Given the description of an element on the screen output the (x, y) to click on. 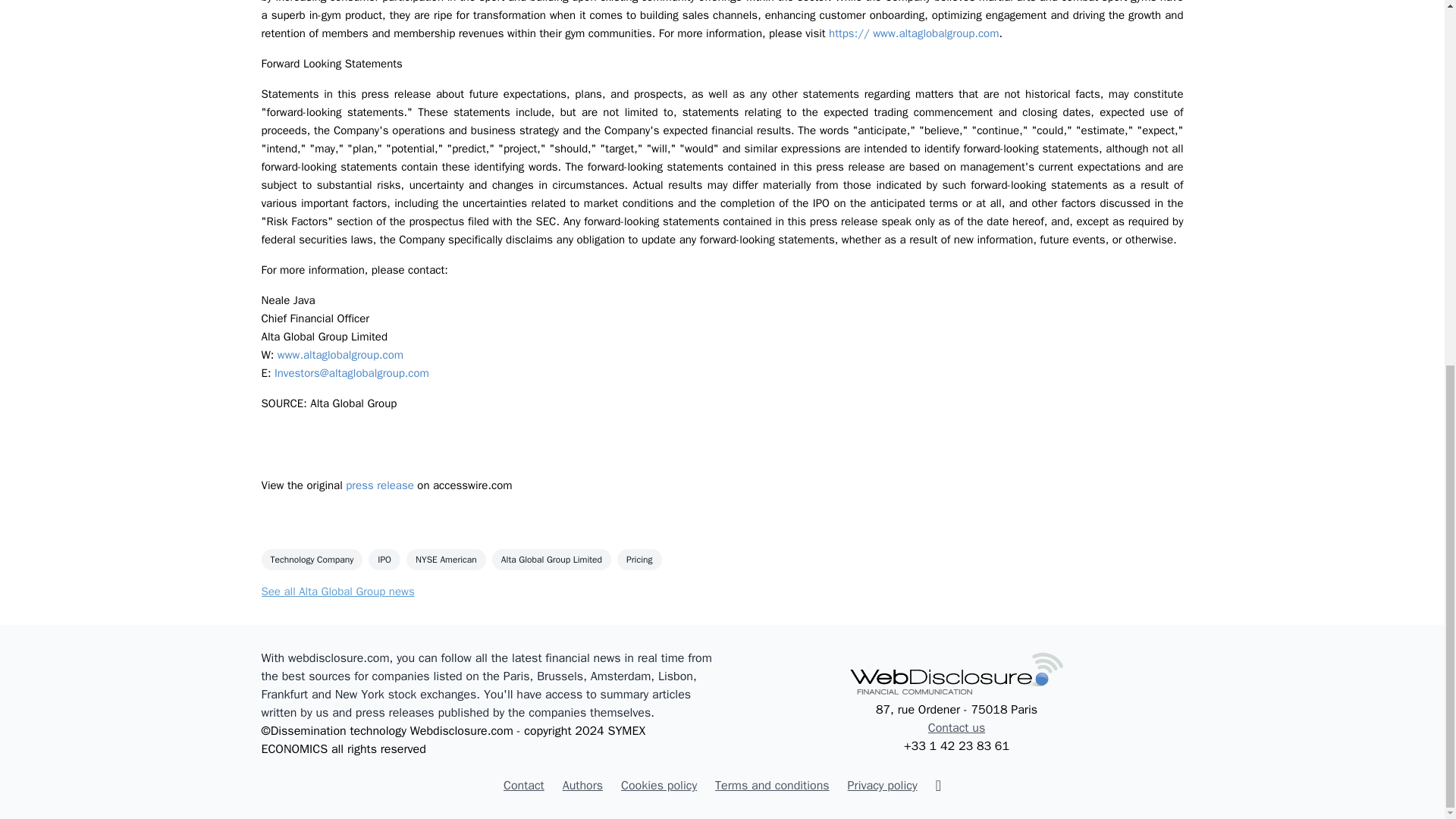
press release (379, 485)
Contact (523, 785)
Technology Company (311, 559)
IPO (384, 559)
Alta Global Group Limited (551, 559)
See all Alta Global Group news (336, 591)
NYSE American (446, 559)
Pricing (639, 559)
www.altaglobalgroup.com (340, 354)
Contact us (956, 727)
